Given the description of an element on the screen output the (x, y) to click on. 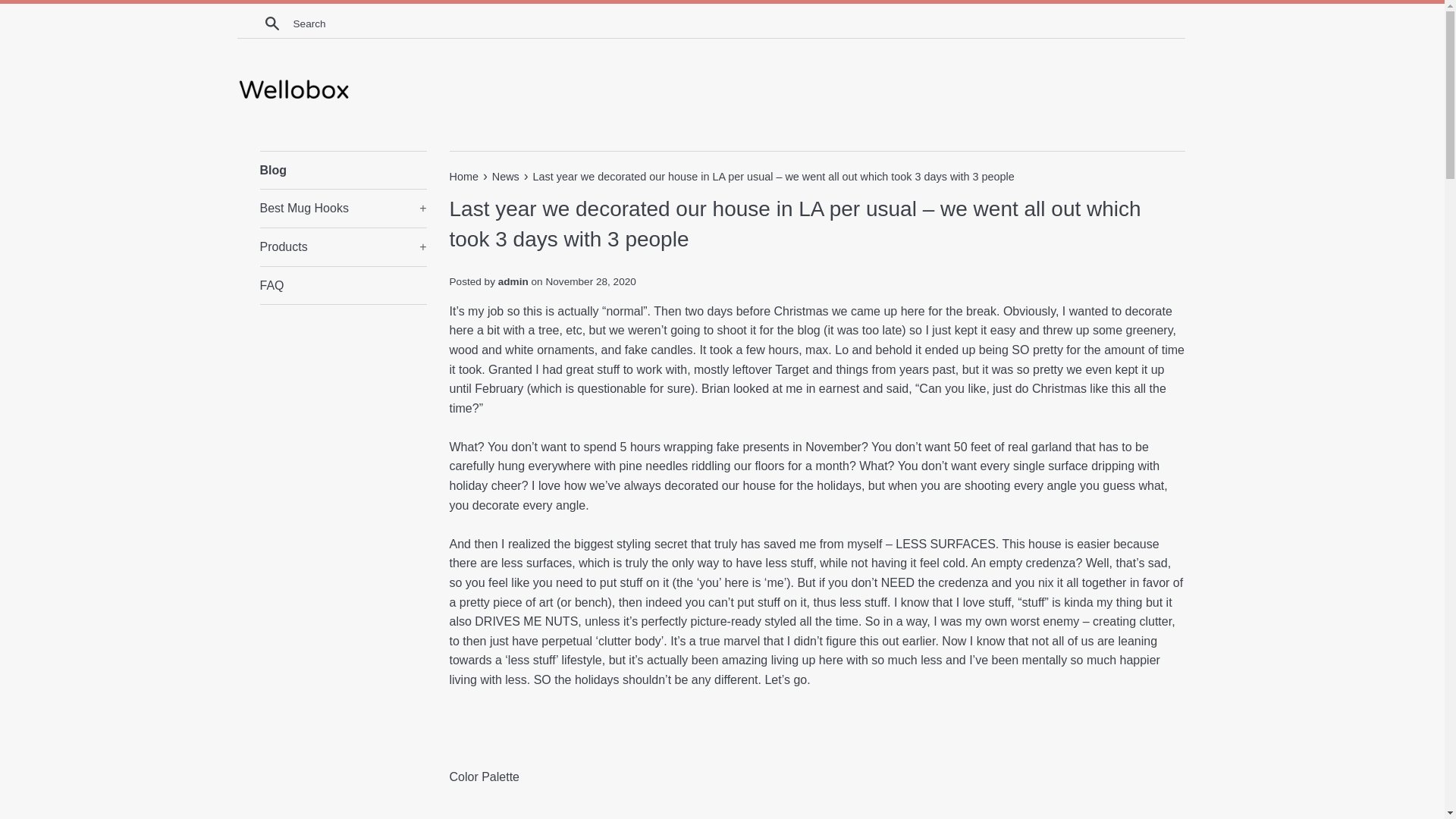
Back to the frontpage (464, 176)
Blog (342, 170)
FAQ (342, 285)
Home (464, 176)
News (507, 176)
Search (271, 22)
